Given the description of an element on the screen output the (x, y) to click on. 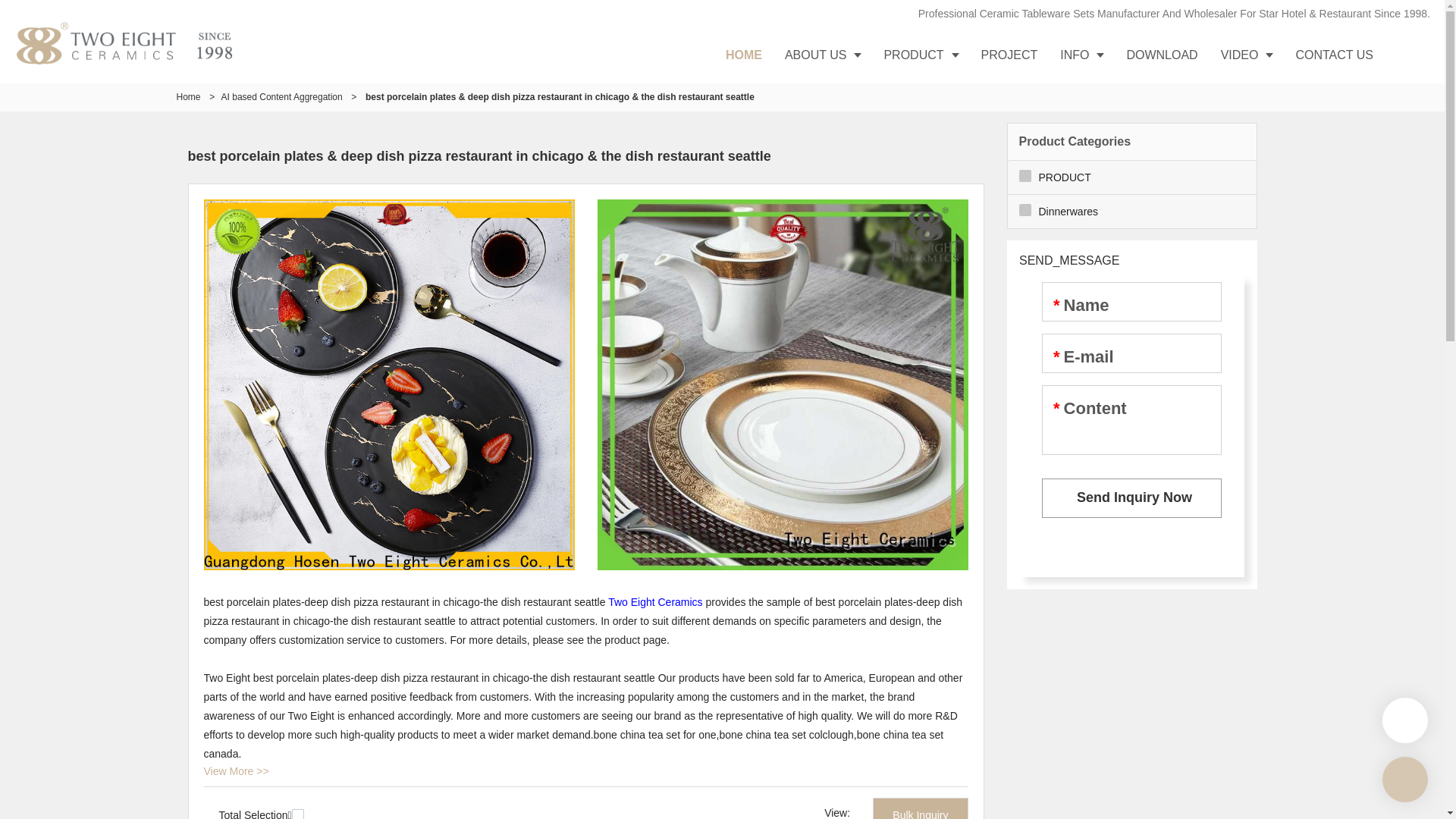
ABOUT US Element type: text (822, 55)
AI based Content Aggregation Element type: text (281, 96)
Two Eight Ceramics Element type: text (655, 602)
PRODUCT Element type: text (920, 55)
Send Inquiry Now Element type: text (1131, 497)
INFO Element type: text (1081, 55)
Home Element type: text (187, 96)
HOME Element type: text (743, 55)
VIDEO Element type: text (1246, 55)
Dinnerwares Element type: text (1131, 211)
CONTACT US Element type: text (1333, 55)
PRODUCT Element type: text (1131, 177)
PROJECT Element type: text (1009, 55)
View More >> Element type: text (235, 770)
DOWNLOAD Element type: text (1161, 55)
